Given the description of an element on the screen output the (x, y) to click on. 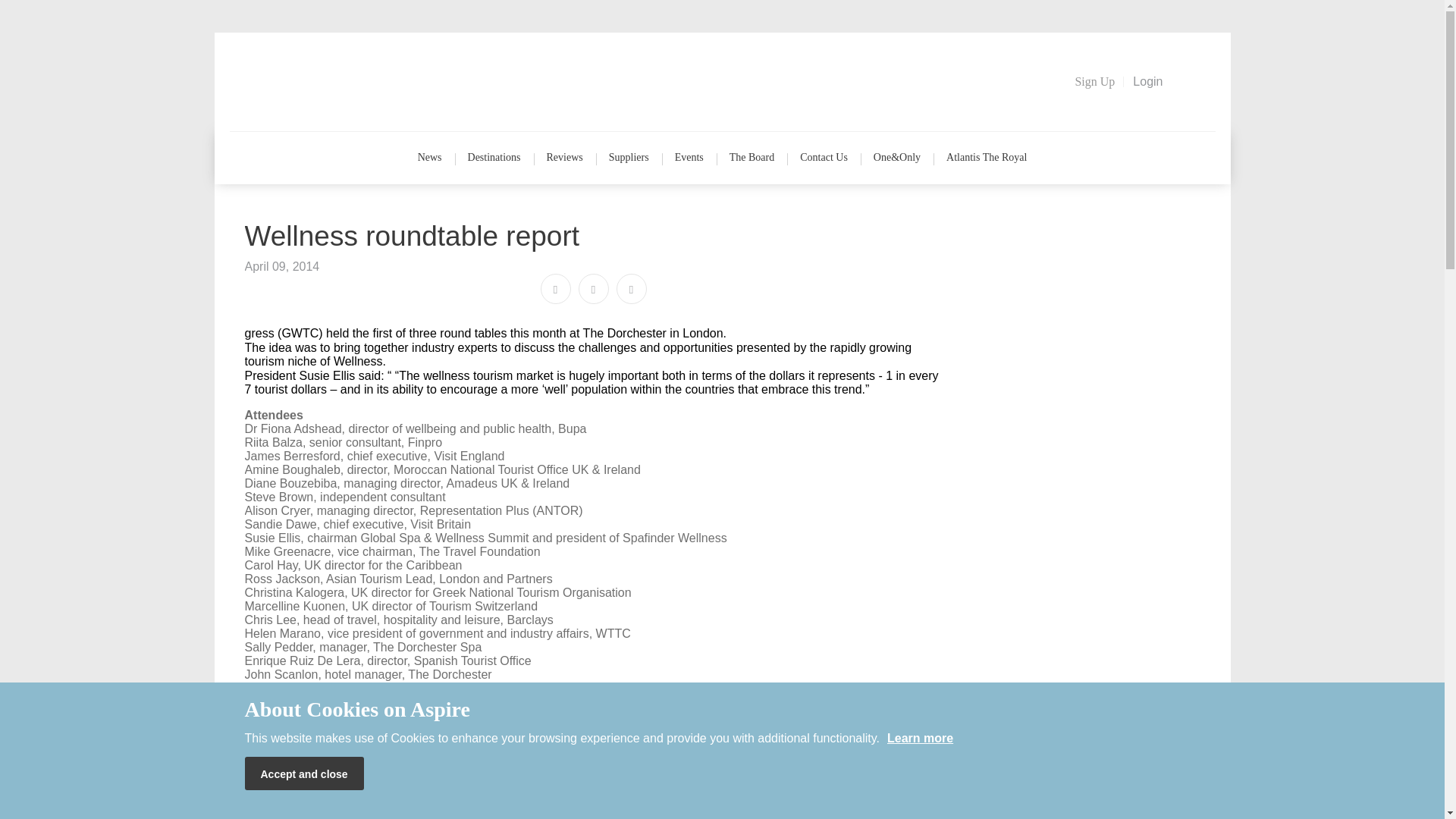
Share on LinkedIn (631, 288)
Atlantis The Royal (986, 157)
Search (1193, 80)
Share on Facebook (555, 288)
Suppliers (628, 157)
Share on Twitter (592, 288)
Events (689, 157)
Contact Us (823, 157)
Login (1147, 81)
Destinations (494, 157)
